Given the description of an element on the screen output the (x, y) to click on. 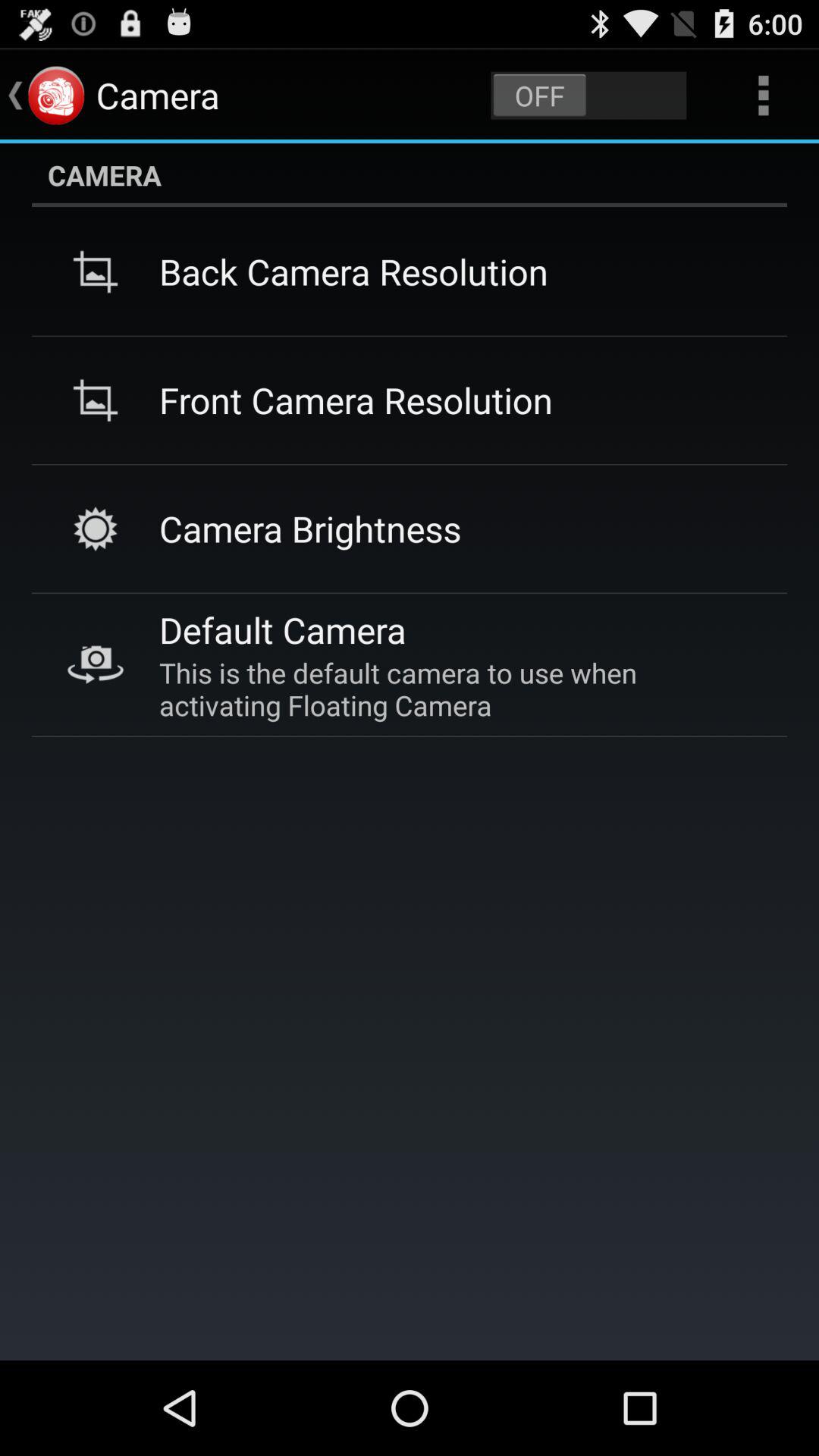
choose icon below default camera icon (455, 689)
